Given the description of an element on the screen output the (x, y) to click on. 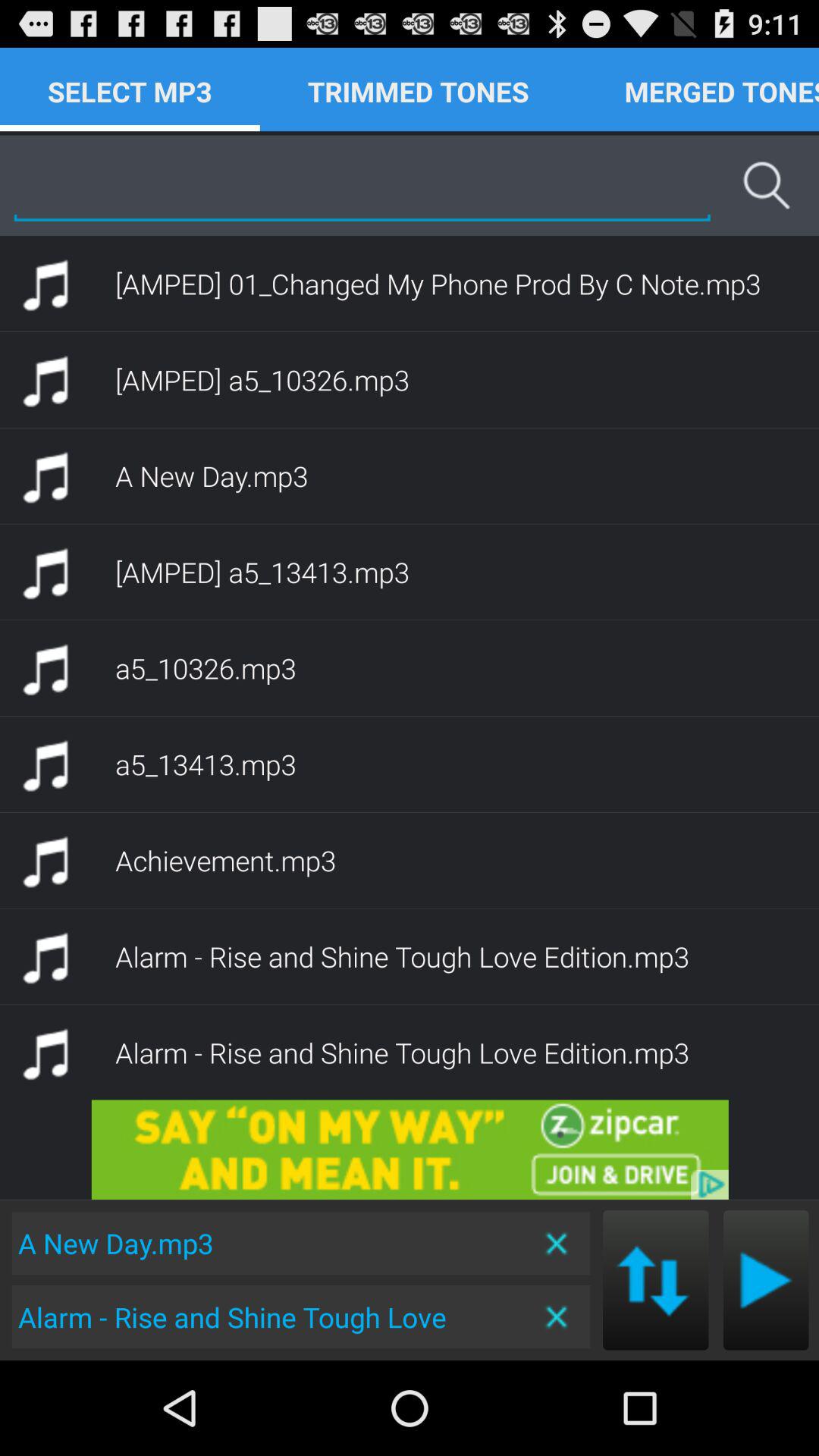
close (557, 1243)
